Given the description of an element on the screen output the (x, y) to click on. 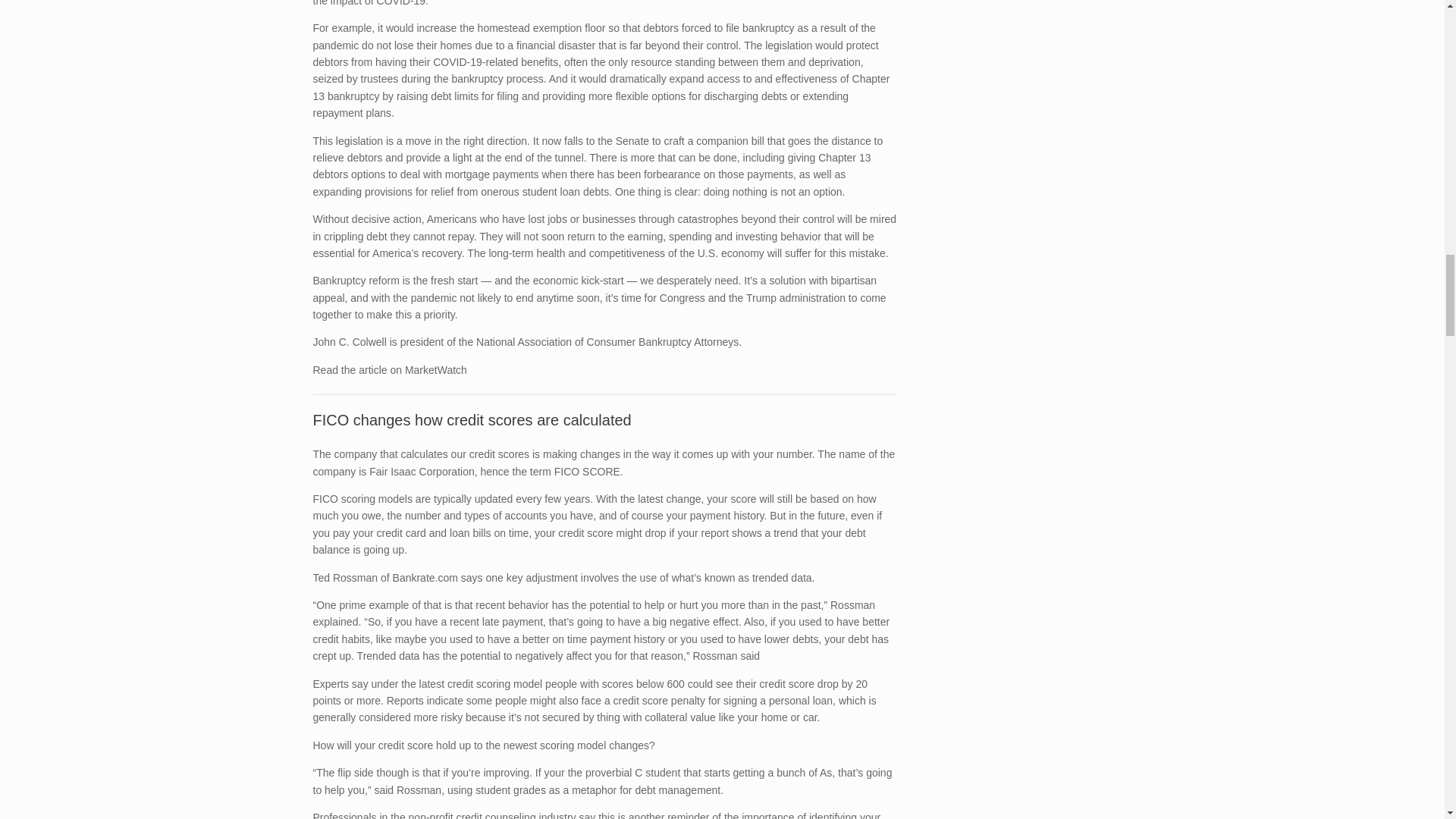
Permalink to FICO changes how credit scores are calculated (471, 419)
FICO changes how credit scores are calculated (471, 419)
